Given the description of an element on the screen output the (x, y) to click on. 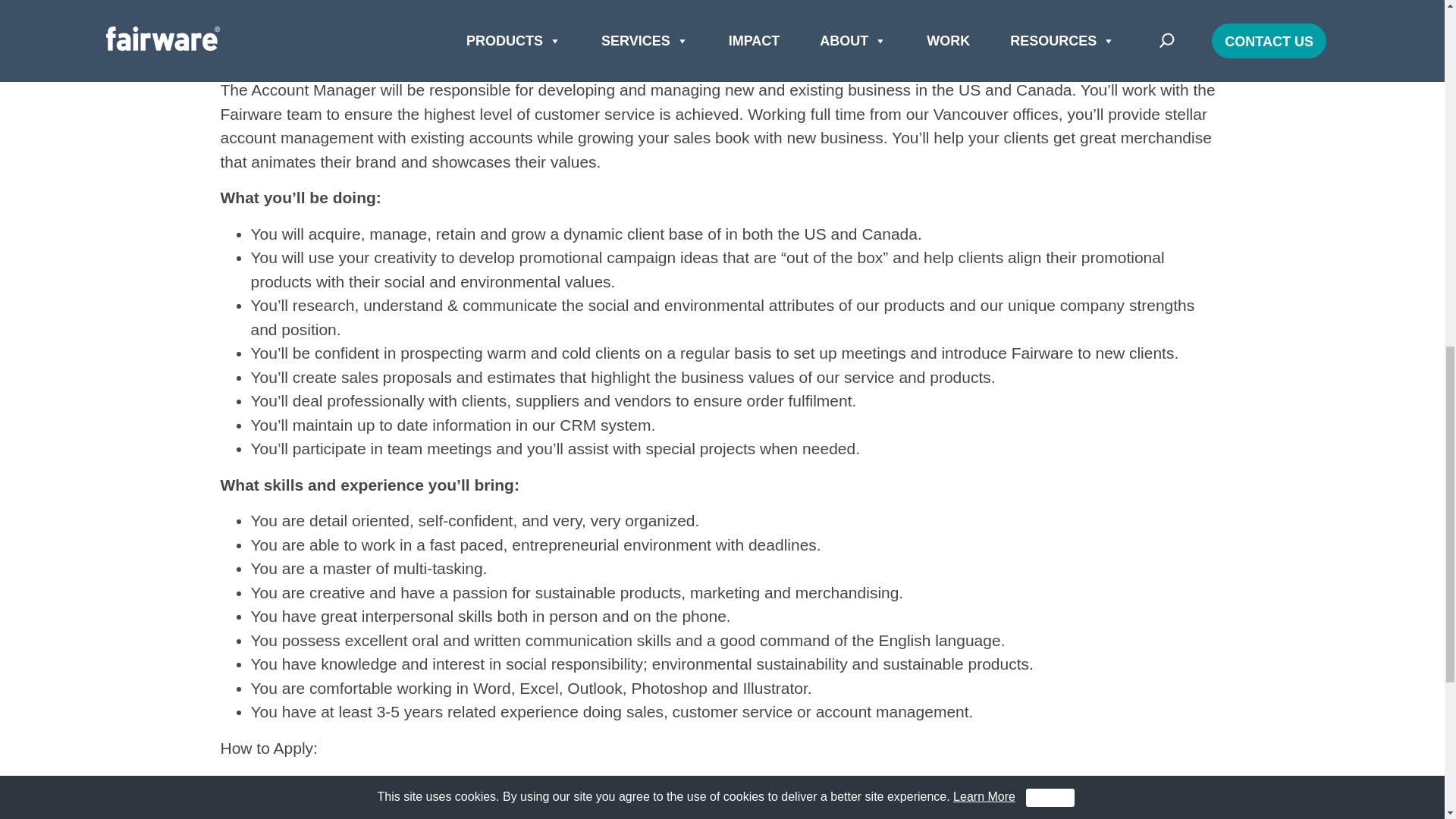
www.fairware.com (399, 17)
